Given the description of an element on the screen output the (x, y) to click on. 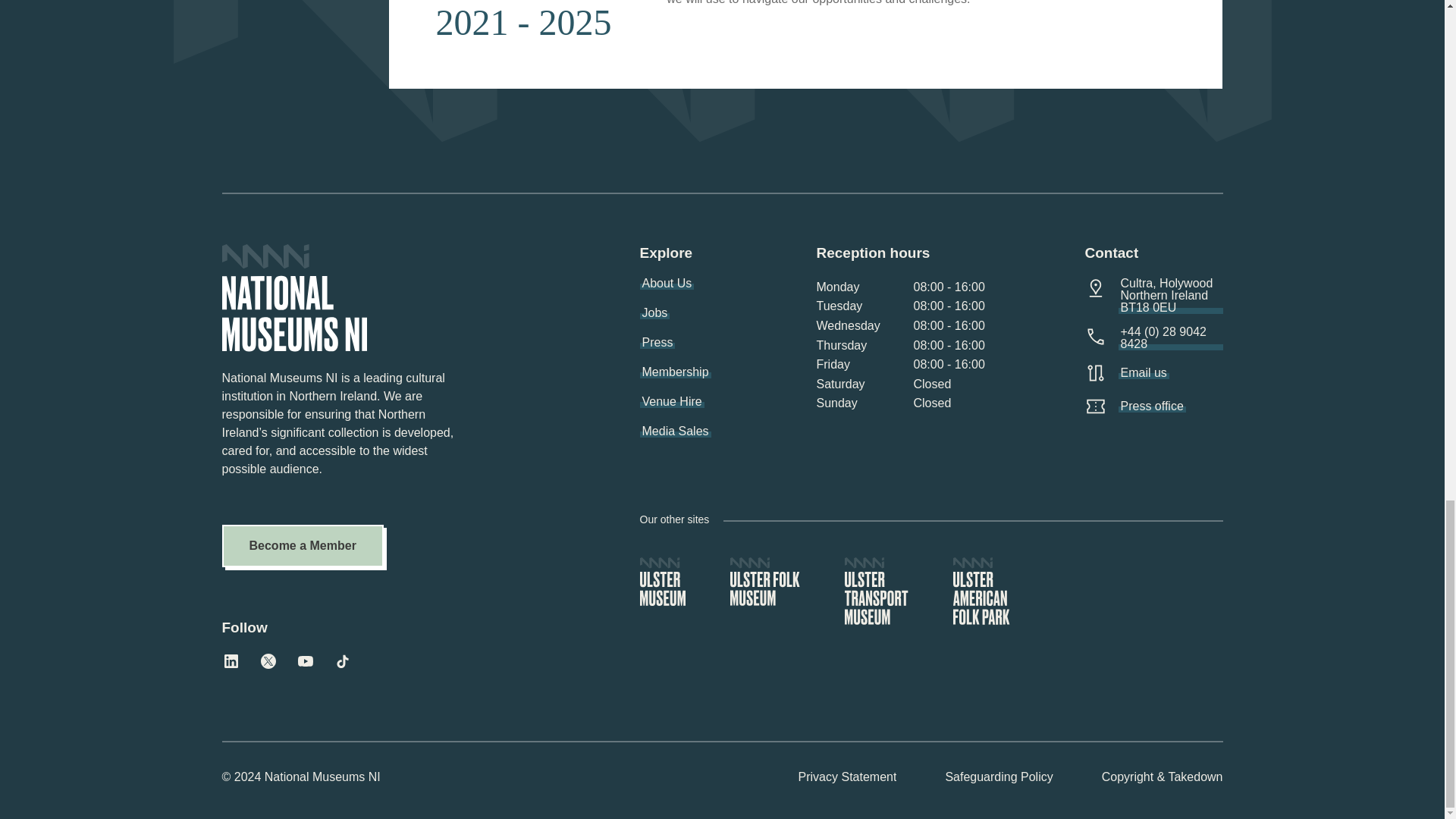
Press office (1151, 406)
Jobs (654, 313)
Ulster Folk Museum (764, 582)
Visit us on twitter (268, 660)
Privacy Statement (846, 777)
Membership (675, 372)
Safeguarding Policy (998, 777)
Venue Hire (672, 401)
Corporate Strategy 2021 - 2025 (805, 44)
Media Sales (675, 431)
